Given the description of an element on the screen output the (x, y) to click on. 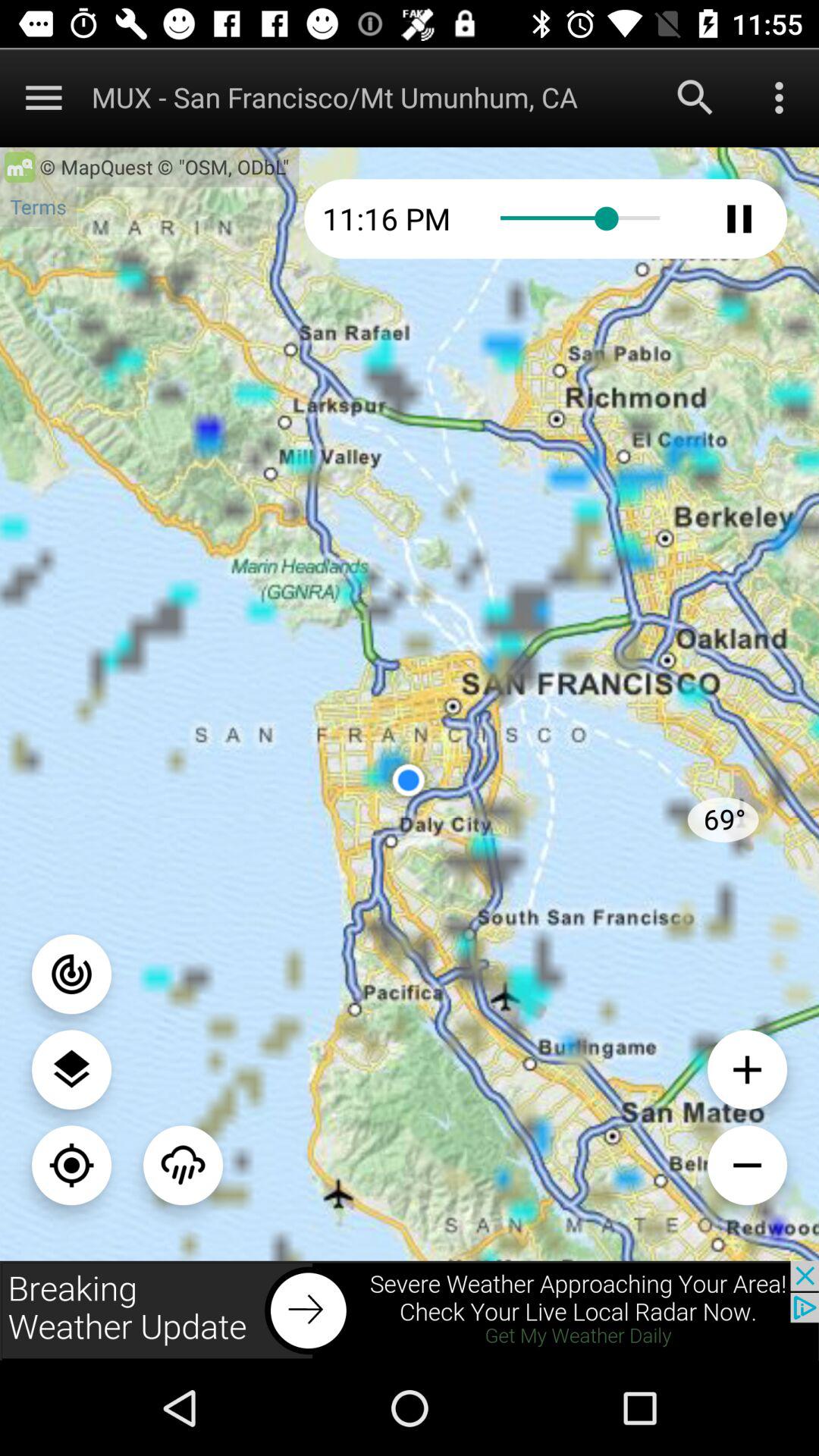
turn on information (71, 974)
